Given the description of an element on the screen output the (x, y) to click on. 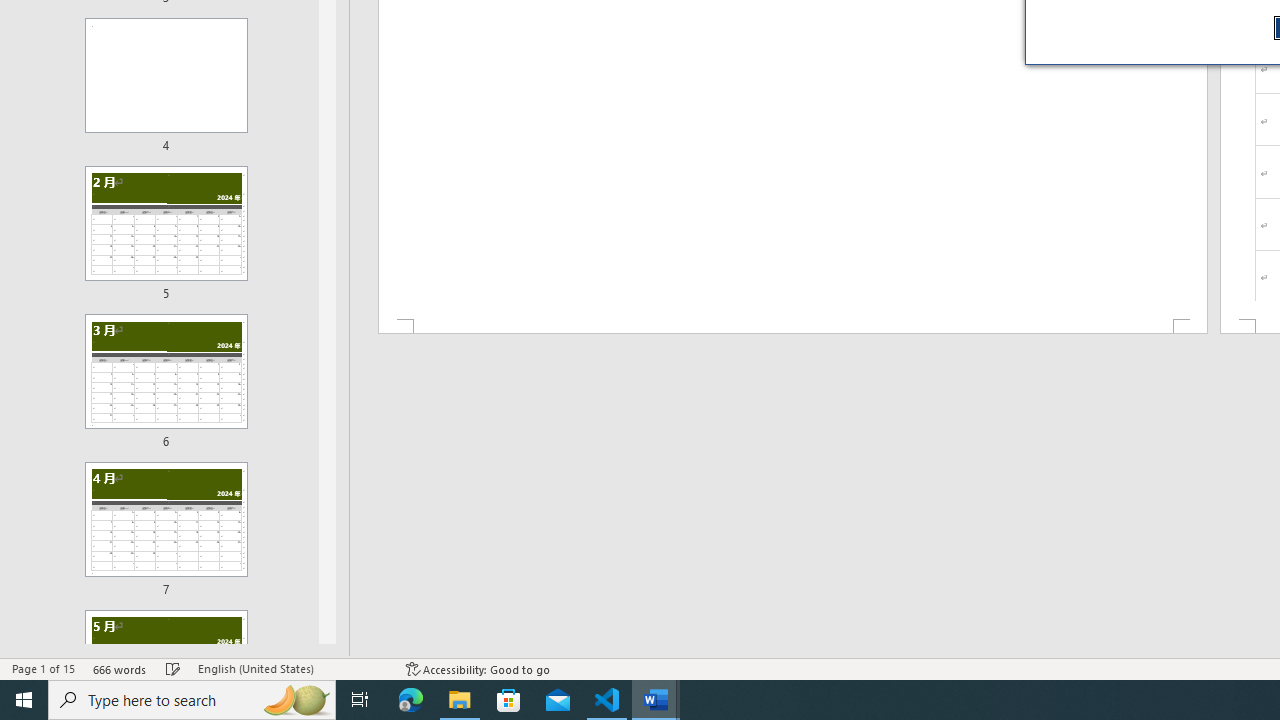
Accessibility Checker Accessibility: Good to go (478, 668)
Microsoft Store (509, 699)
Search highlights icon opens search home window (295, 699)
Footer -Section 1- (792, 326)
Visual Studio Code - 1 running window (607, 699)
Microsoft Edge (411, 699)
File Explorer - 1 running window (460, 699)
Spelling and Grammar Check Checking (173, 668)
Start (24, 699)
Type here to search (191, 699)
Page Number Page 1 of 15 (43, 668)
Word Count 666 words (119, 668)
Task View (359, 699)
